Given the description of an element on the screen output the (x, y) to click on. 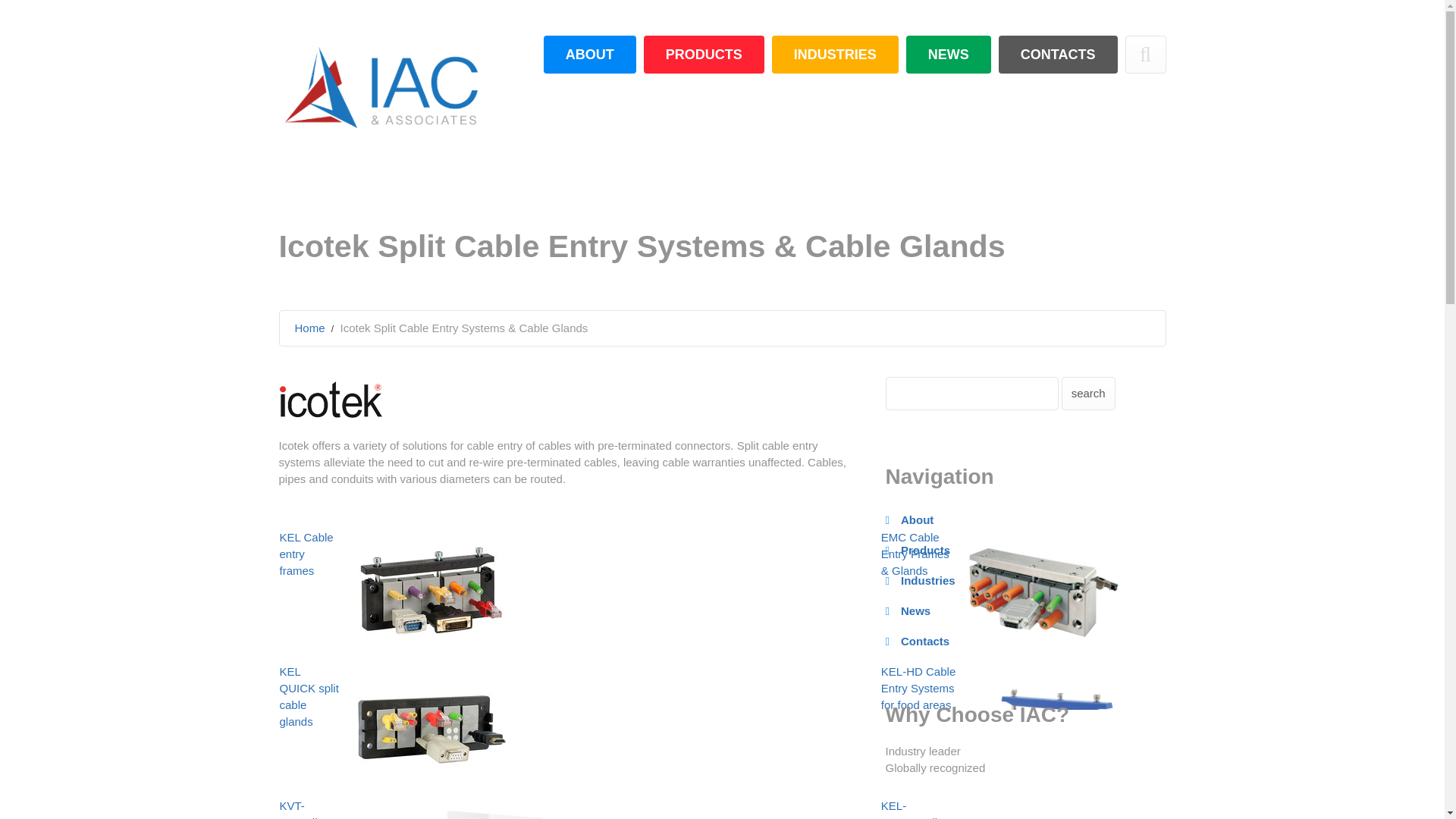
KEL QUICK split cable glands (308, 696)
KVT-ER Split cable glands (299, 809)
Industries (928, 580)
News (915, 610)
About (917, 519)
Contacts (925, 640)
search (1088, 393)
Products (925, 549)
KEL-HD Cable Entry Systems for food areas (917, 688)
PRODUCTS (703, 54)
